Given the description of an element on the screen output the (x, y) to click on. 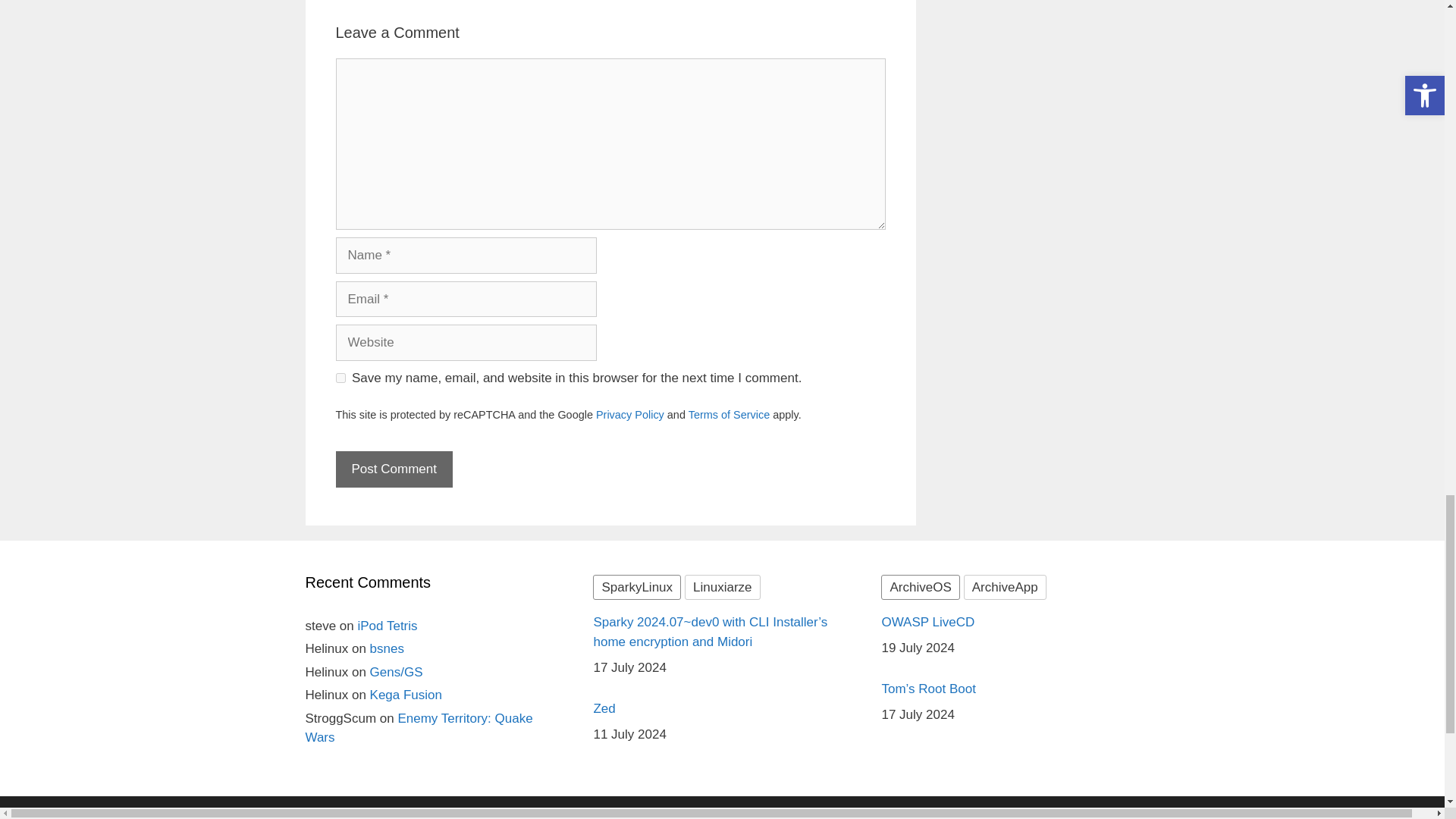
yes (339, 378)
Post Comment (392, 469)
